Given the description of an element on the screen output the (x, y) to click on. 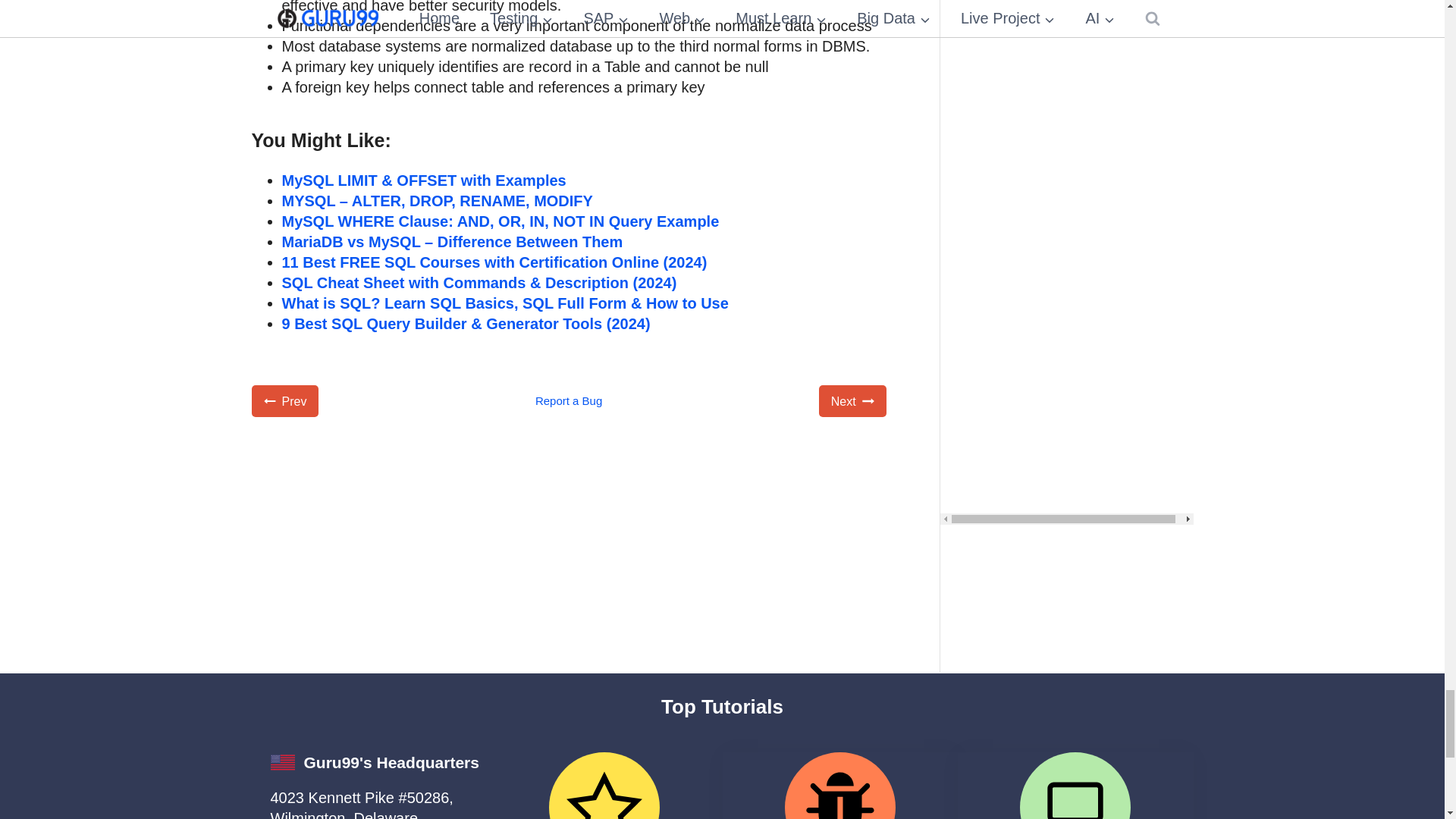
MySQL WHERE Clause: AND, OR, IN, NOT IN Query Example (500, 221)
